Given the description of an element on the screen output the (x, y) to click on. 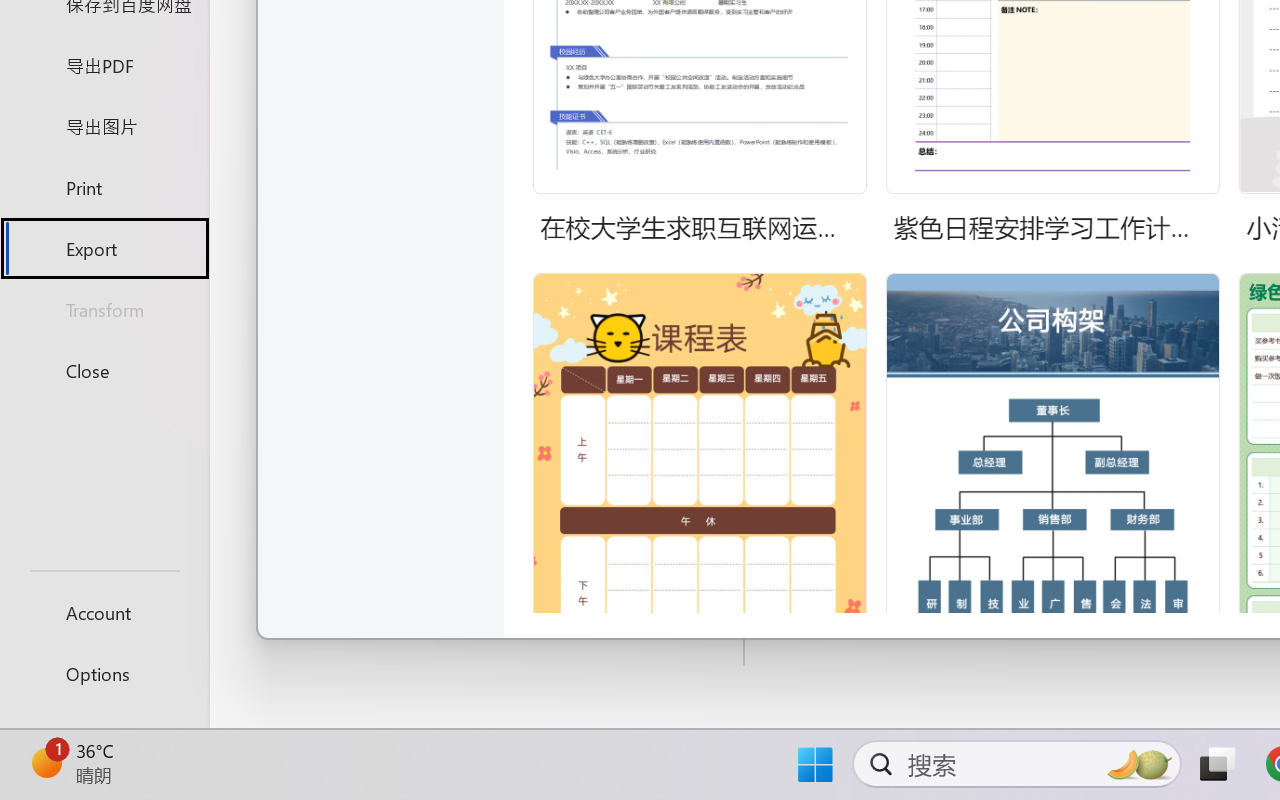
Transform (104, 309)
Options (104, 673)
Account (104, 612)
Print (104, 186)
Export (104, 248)
